Given the description of an element on the screen output the (x, y) to click on. 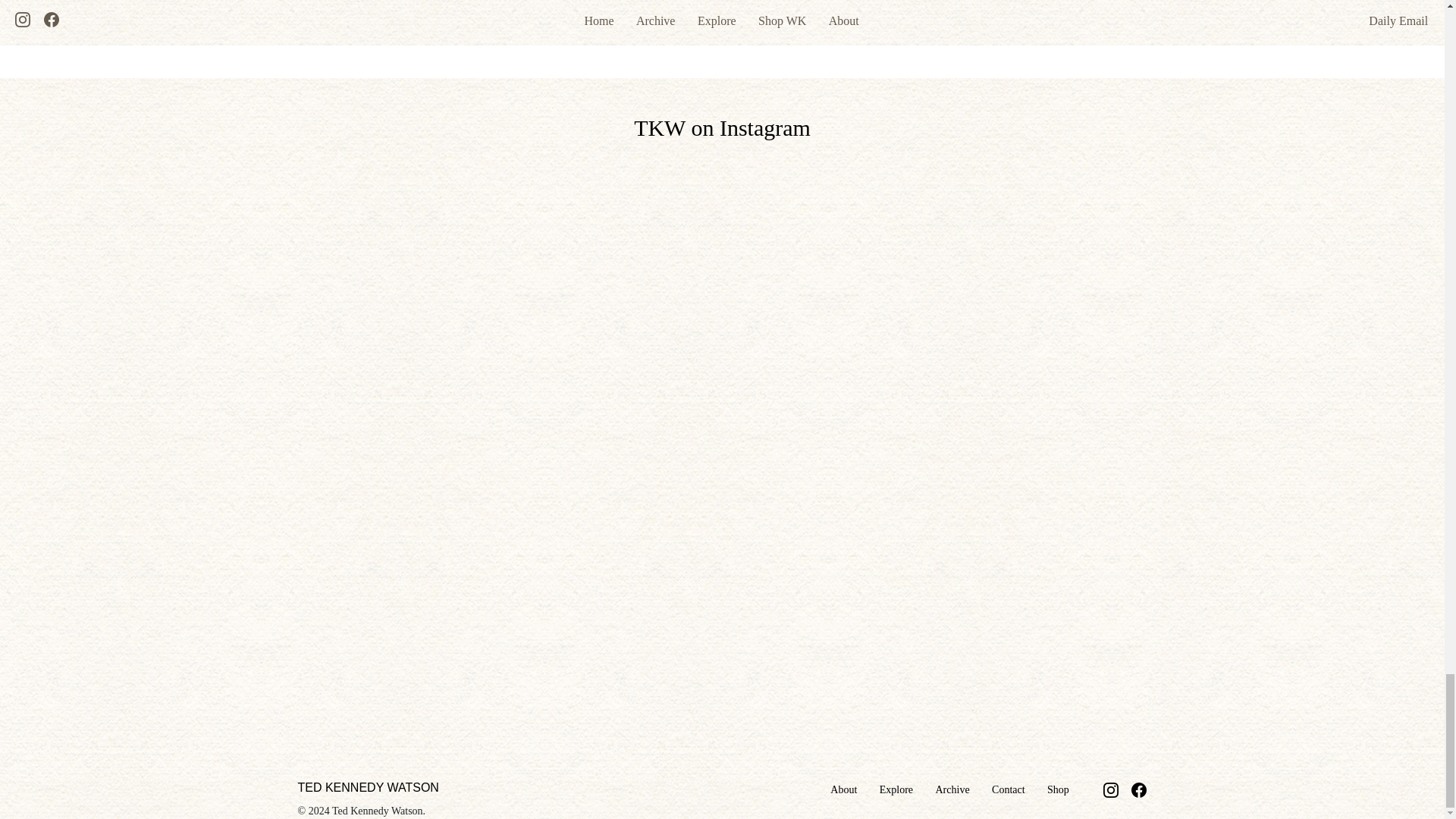
TKW on Instagram (722, 127)
Watson Kennedy (558, 2)
